Given the description of an element on the screen output the (x, y) to click on. 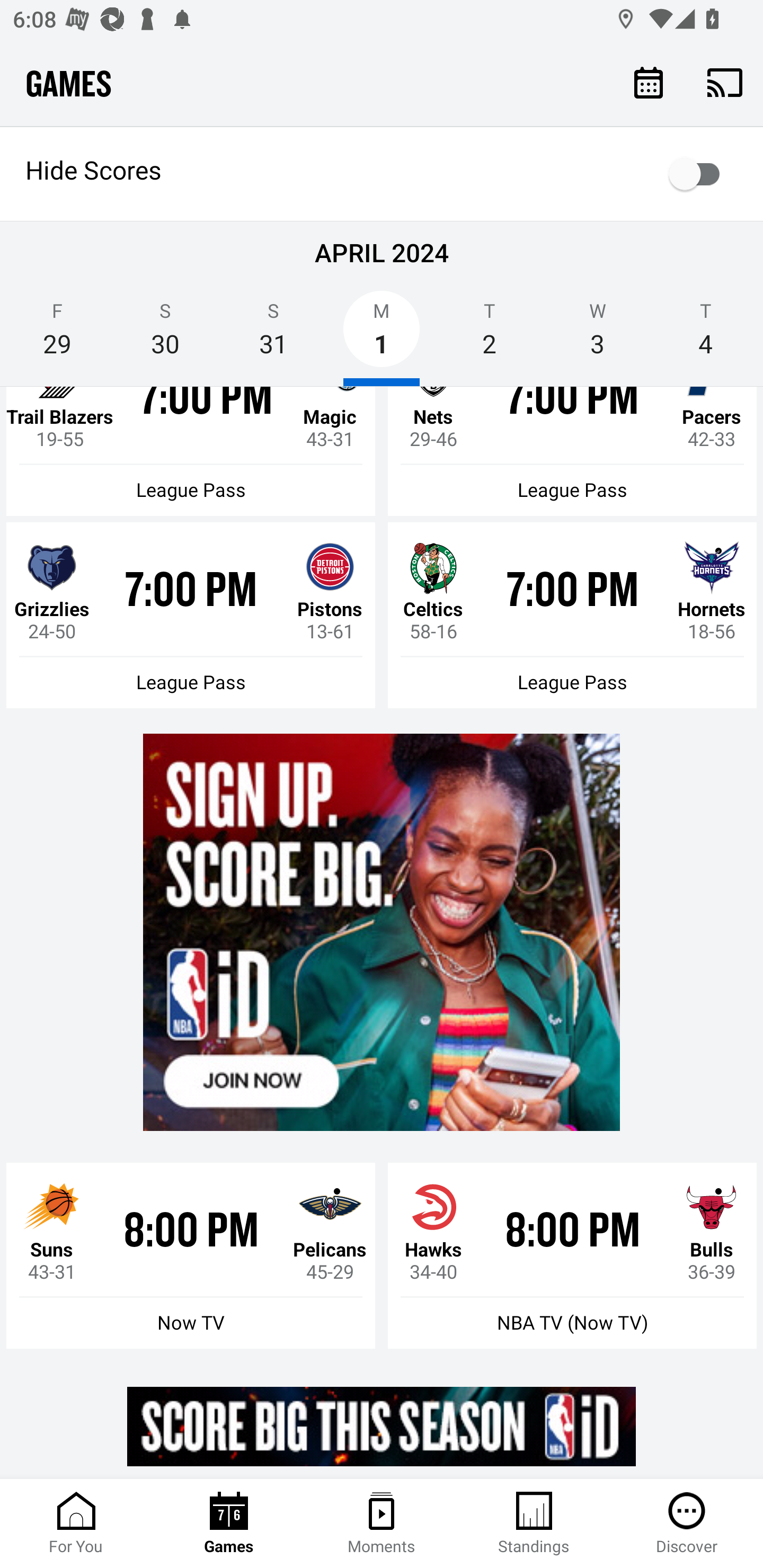
Cast. Disconnected (724, 82)
Calendar (648, 81)
Hide Scores (381, 174)
F 29 (57, 334)
S 30 (165, 334)
S 31 (273, 334)
M 1 (381, 334)
T 2 (489, 334)
W 3 (597, 334)
T 4 (705, 334)
Grizzlies 24-50 7:00 PM Pistons 13-61 League Pass (190, 615)
Celtics 58-16 7:00 PM Hornets 18-56 League Pass (571, 615)
g5nqqygr7owph (381, 931)
Suns 43-31 8:00 PM Pelicans 45-29 Now TV (190, 1255)
Hawks 34-40 8:00 PM Bulls 36-39 NBA TV (Now TV) (571, 1255)
g5nqqygr7owph (381, 1426)
For You (76, 1523)
Moments (381, 1523)
Standings (533, 1523)
Discover (686, 1523)
